Given the description of an element on the screen output the (x, y) to click on. 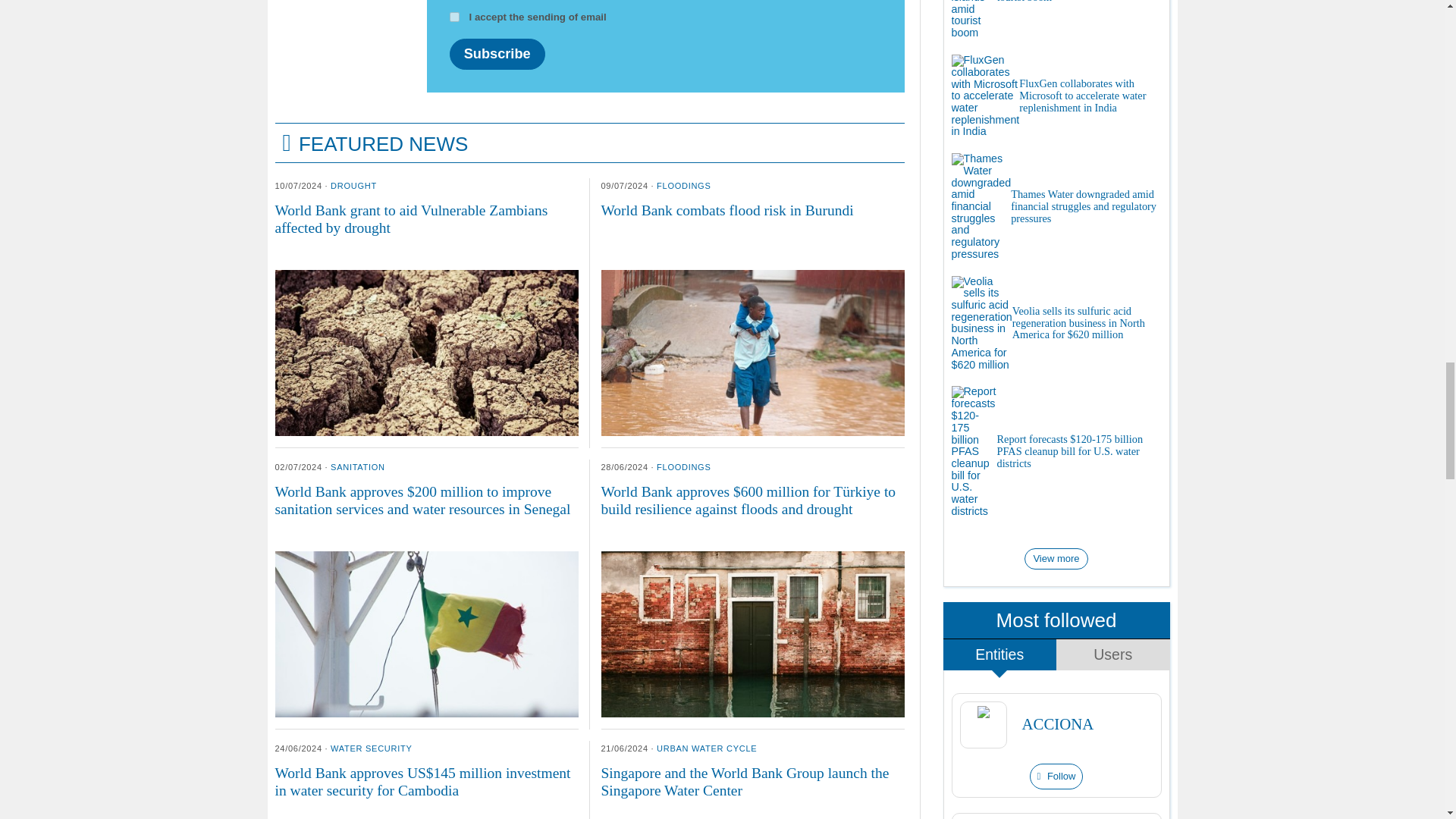
Y (453, 17)
Subscribe (496, 53)
View more articles of Floodings (683, 185)
View more articles of Drought (353, 185)
